Given the description of an element on the screen output the (x, y) to click on. 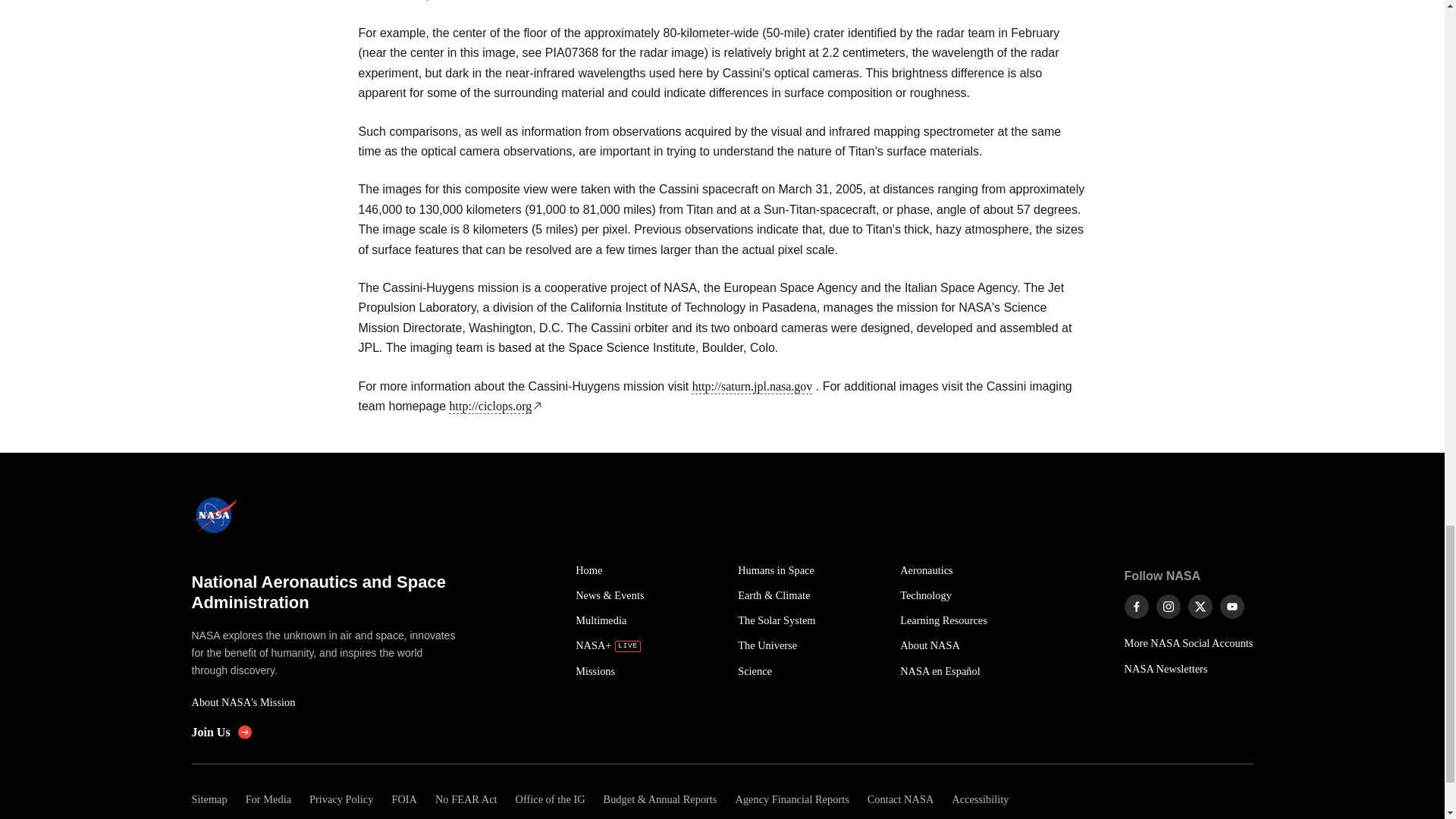
Office of the IG (550, 799)
FOIA (403, 799)
No FEAR Act (466, 799)
Accessibility (979, 799)
Privacy Policy (340, 799)
Sitemap (212, 799)
Agency Financial Reports (791, 799)
For Media (267, 799)
Contact NASA (901, 799)
